Given the description of an element on the screen output the (x, y) to click on. 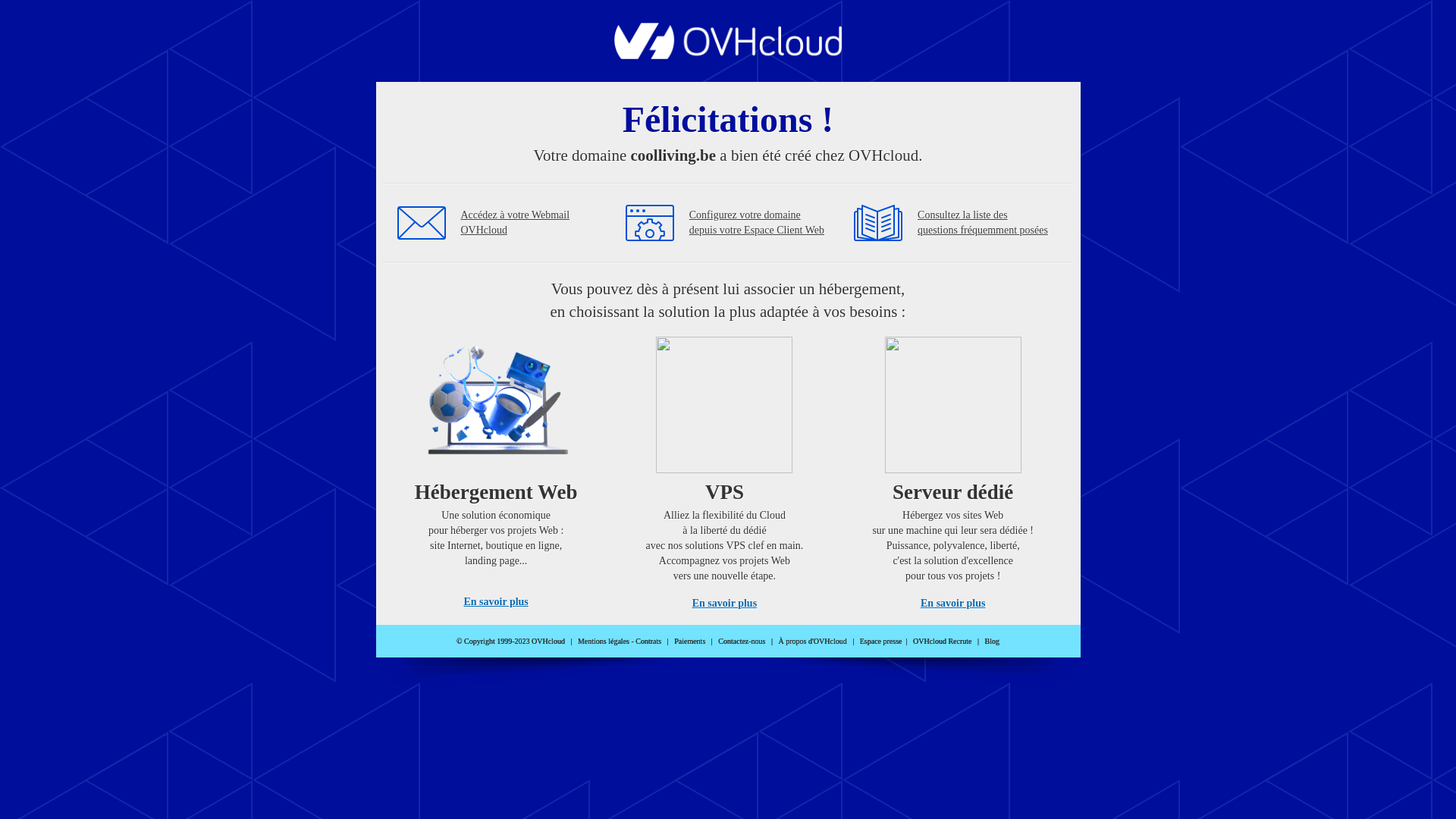
Contactez-nous Element type: text (741, 641)
Paiements Element type: text (689, 641)
OVHcloud Element type: hover (727, 54)
Configurez votre domaine
depuis votre Espace Client Web Element type: text (756, 222)
En savoir plus Element type: text (724, 602)
En savoir plus Element type: text (495, 601)
Blog Element type: text (992, 641)
En savoir plus Element type: text (952, 602)
VPS Element type: hover (723, 469)
OVHcloud Recrute Element type: text (942, 641)
Espace presse Element type: text (880, 641)
